Given the description of an element on the screen output the (x, y) to click on. 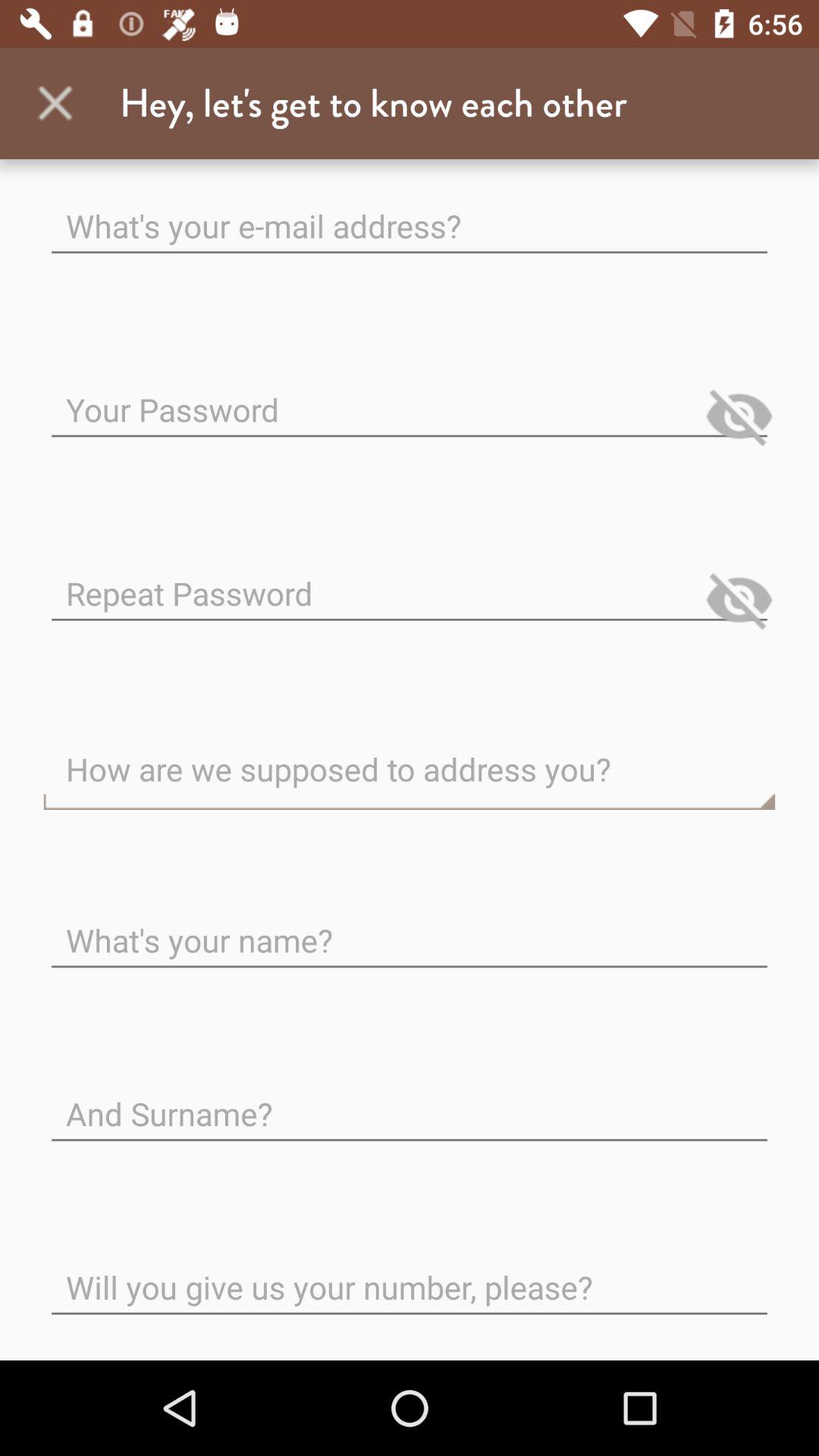
fill the password (409, 397)
